Given the description of an element on the screen output the (x, y) to click on. 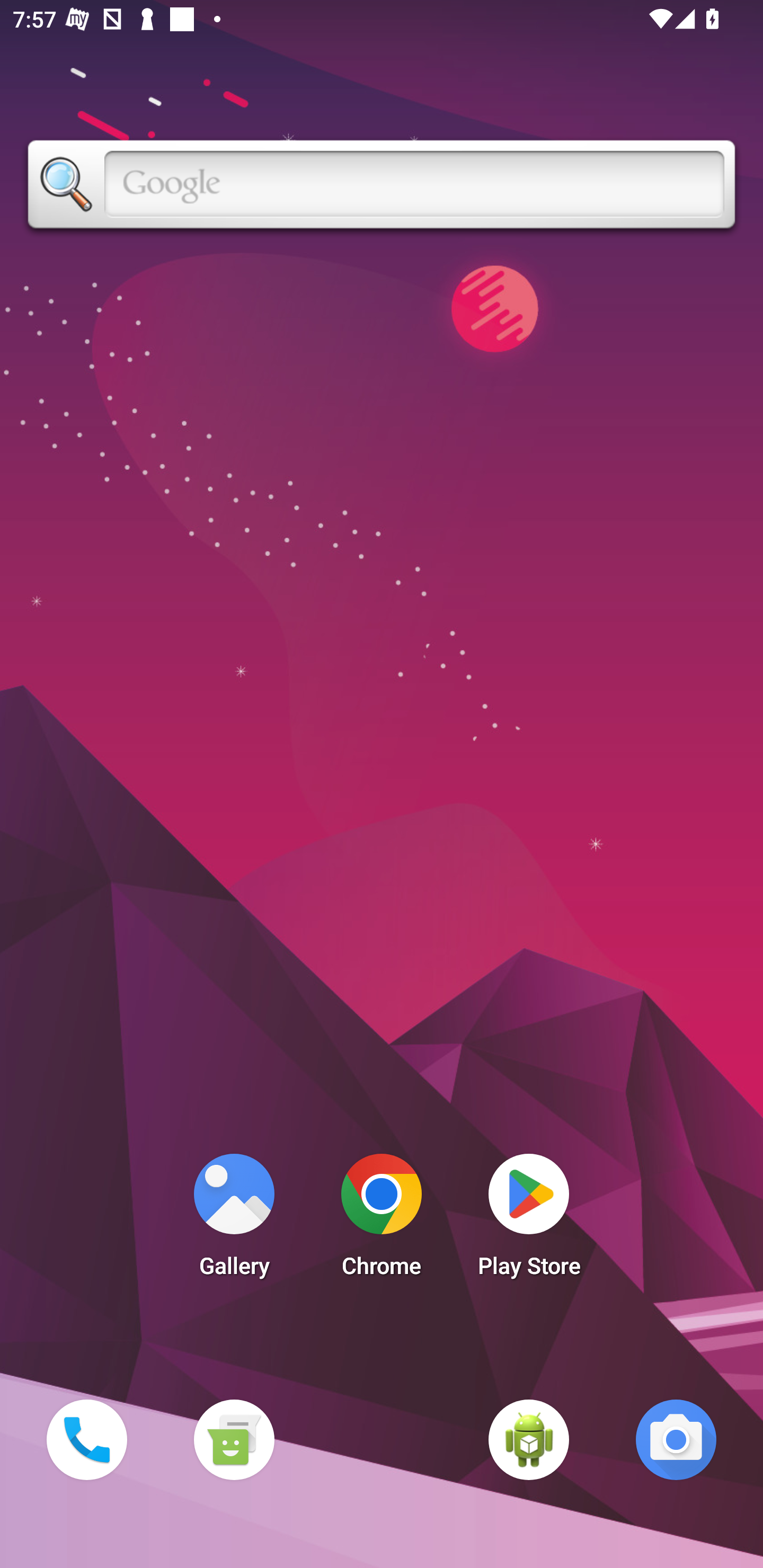
Gallery (233, 1220)
Chrome (381, 1220)
Play Store (528, 1220)
Phone (86, 1439)
Messaging (233, 1439)
WebView Browser Tester (528, 1439)
Camera (676, 1439)
